Given the description of an element on the screen output the (x, y) to click on. 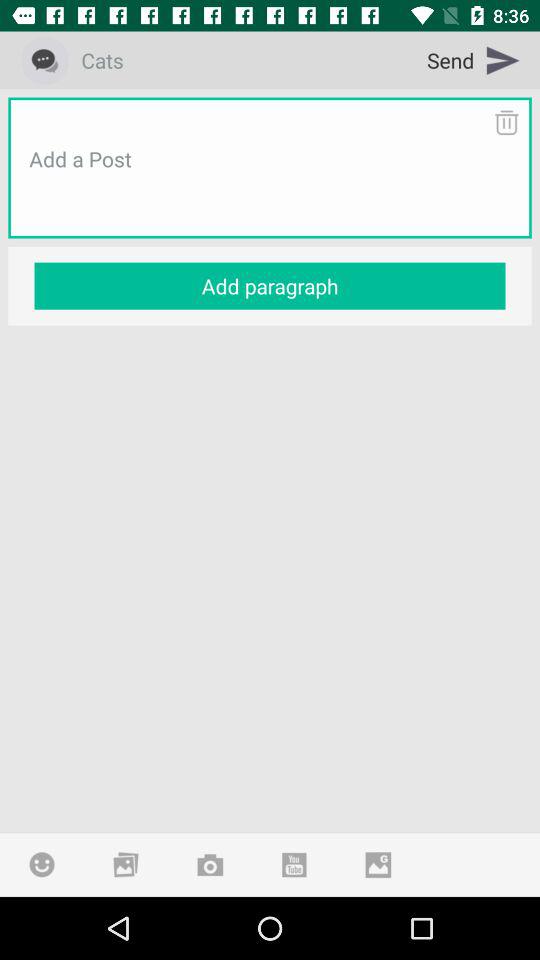
insert google image (378, 864)
